Given the description of an element on the screen output the (x, y) to click on. 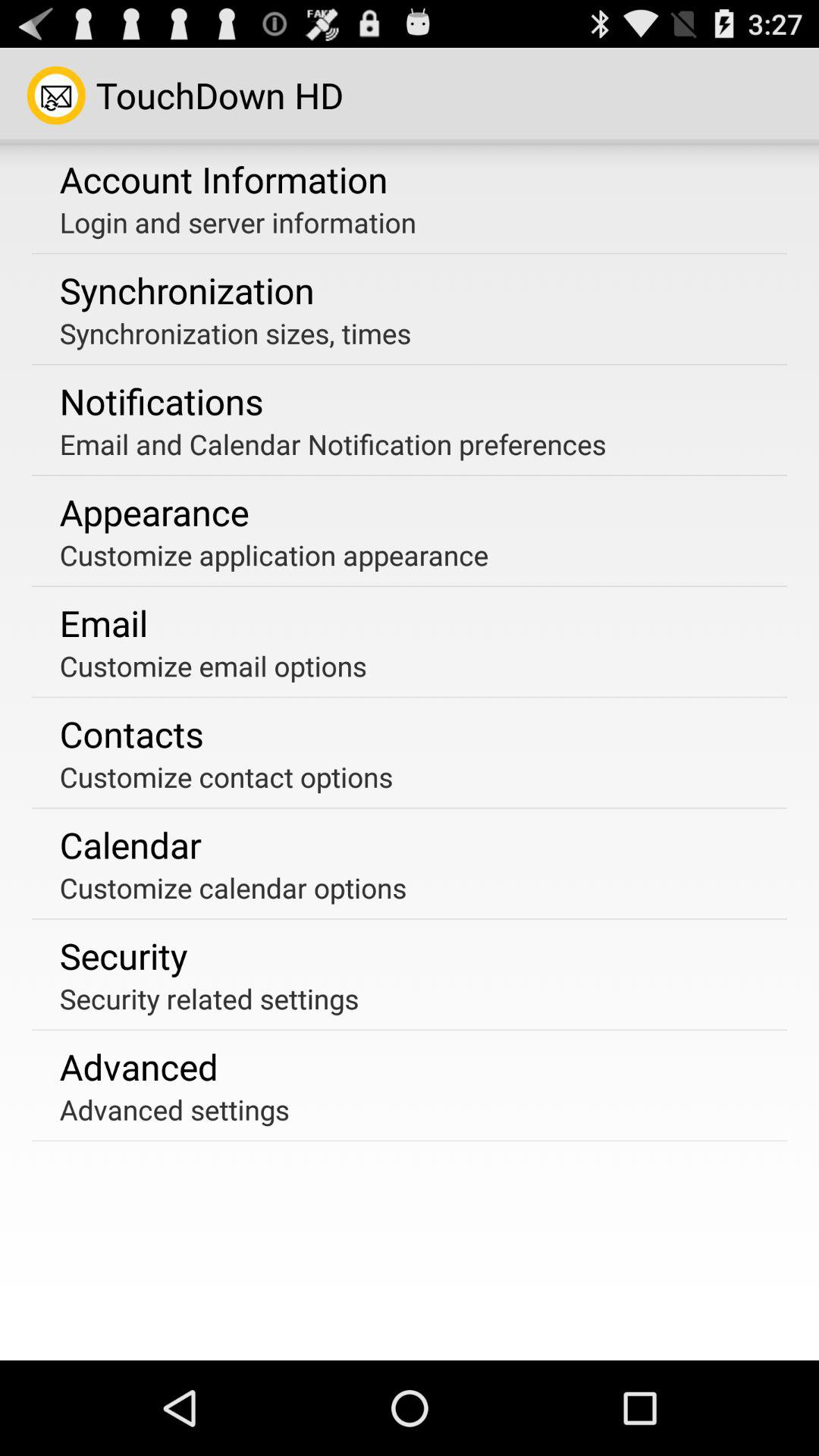
select security related settings item (208, 998)
